Given the description of an element on the screen output the (x, y) to click on. 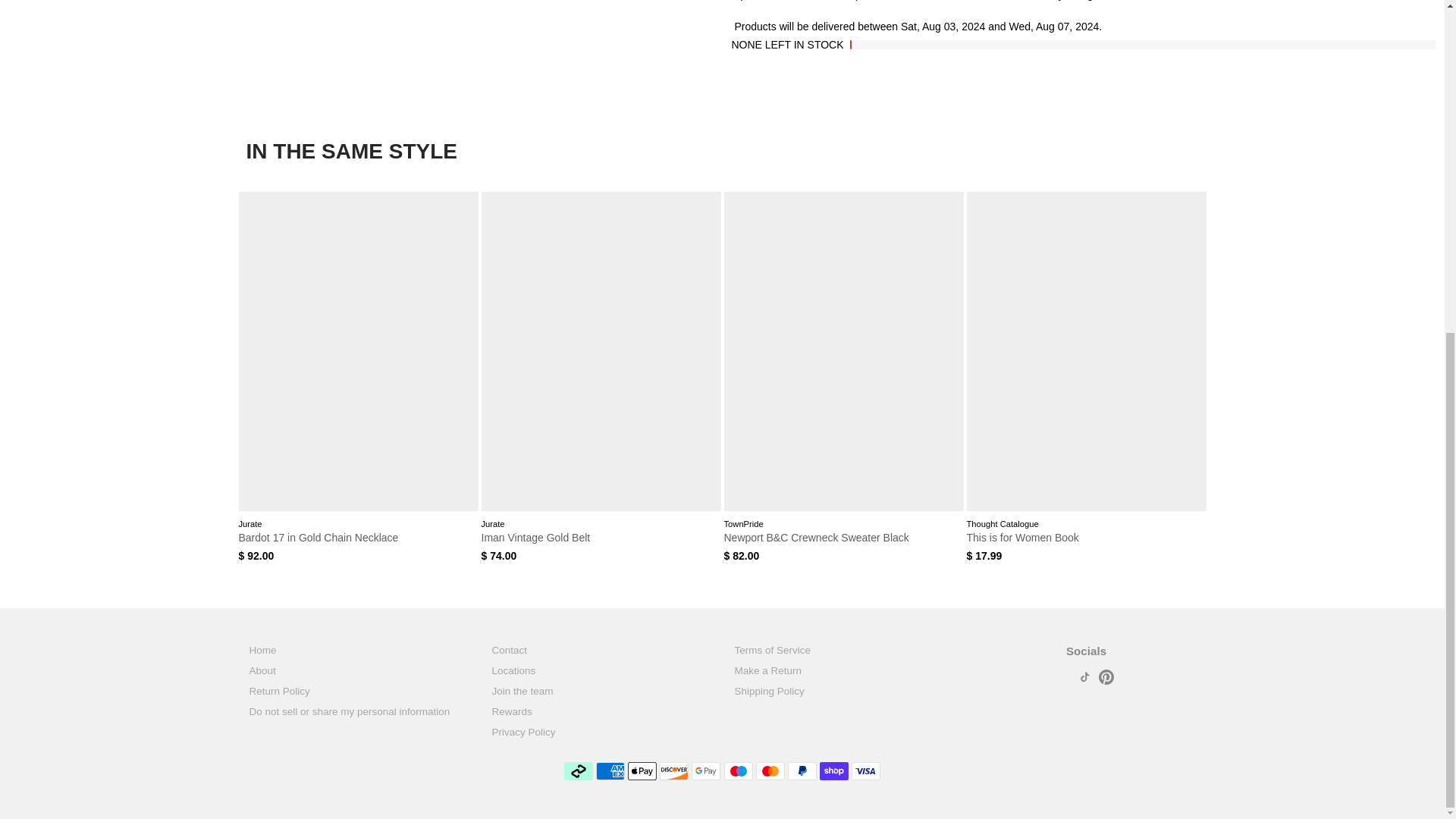
Discover (673, 771)
Google Pay (705, 771)
Shop Pay (833, 771)
Apple Pay (641, 771)
Mastercard (769, 771)
PayPal (801, 771)
Afterpay (578, 771)
Maestro (737, 771)
Visa (865, 771)
American Express (609, 771)
